Given the description of an element on the screen output the (x, y) to click on. 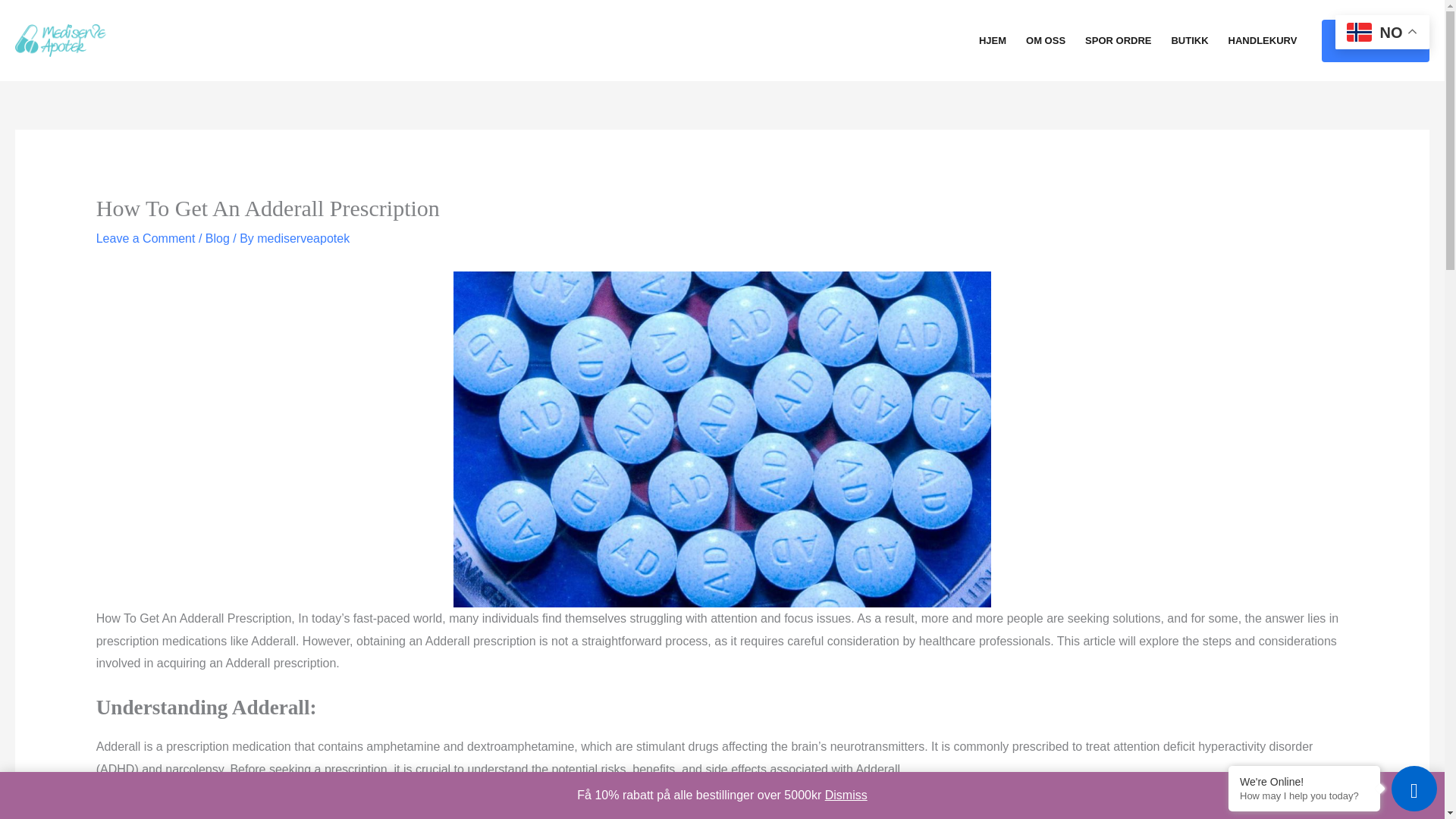
SPOR ORDRE (1117, 40)
Dismiss (846, 794)
HANDLEKURV (1262, 40)
Leave a Comment (145, 237)
How may I help you today? (1304, 795)
We're Online! (1304, 781)
OM OSS (1045, 40)
Blog (217, 237)
BUTIKK (1188, 40)
KONTAKT OSS (1375, 40)
View all posts by mediserveapotek (303, 237)
mediserveapotek (303, 237)
